Given the description of an element on the screen output the (x, y) to click on. 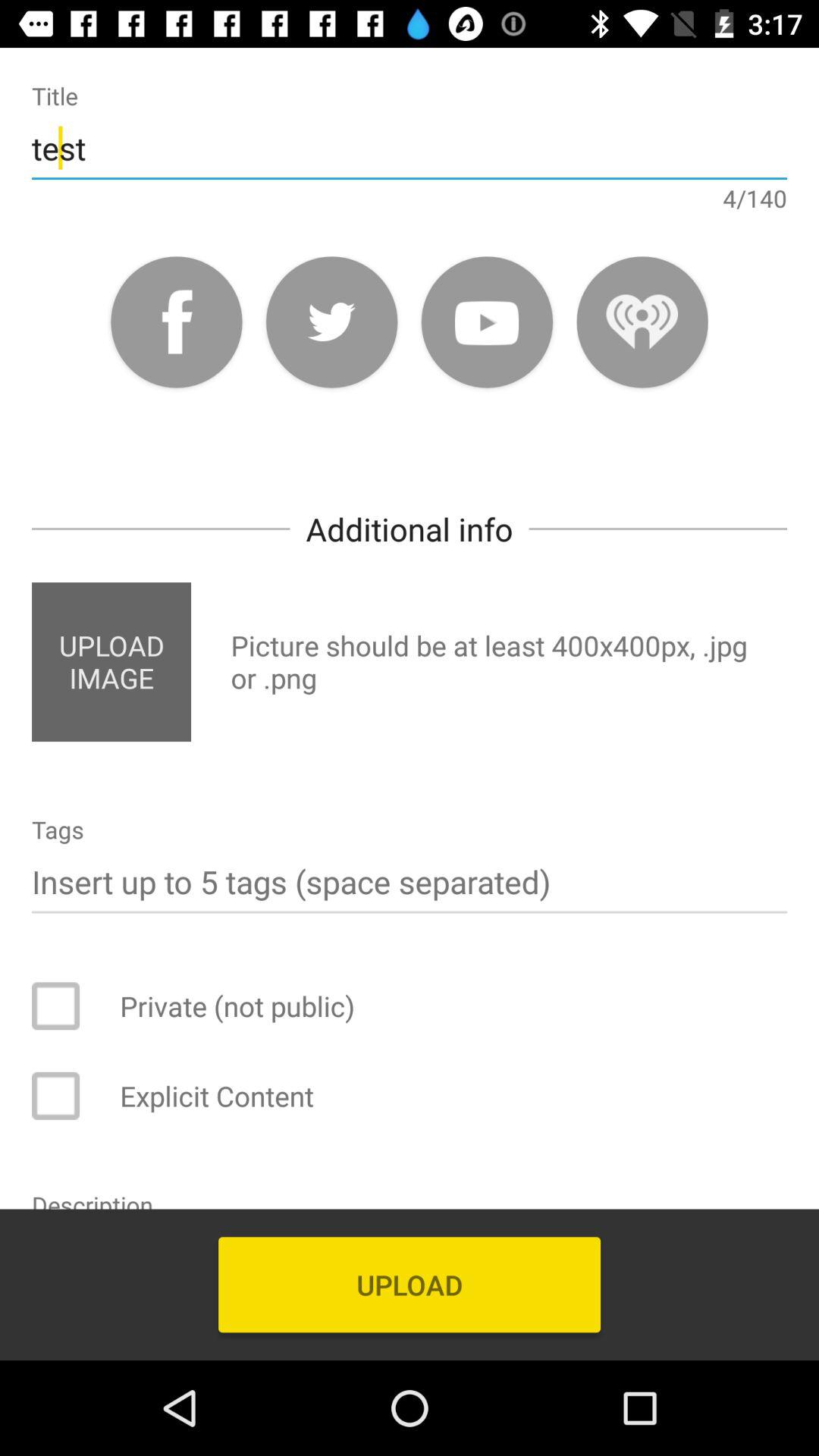
make it private (65, 1006)
